Given the description of an element on the screen output the (x, y) to click on. 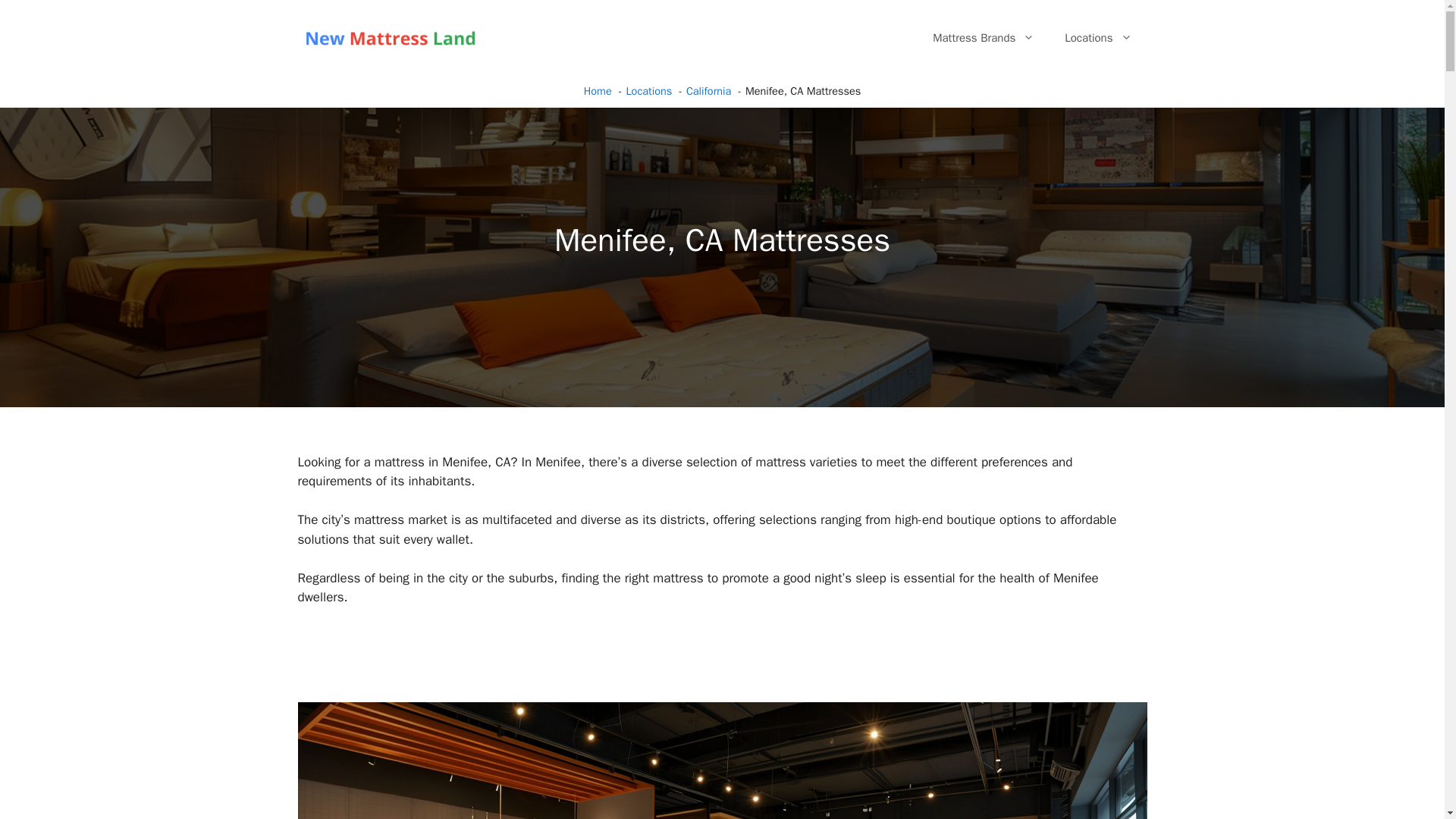
California (707, 90)
Locations (1098, 37)
Mattress Brands (983, 37)
Home (597, 90)
Locations (648, 90)
